Given the description of an element on the screen output the (x, y) to click on. 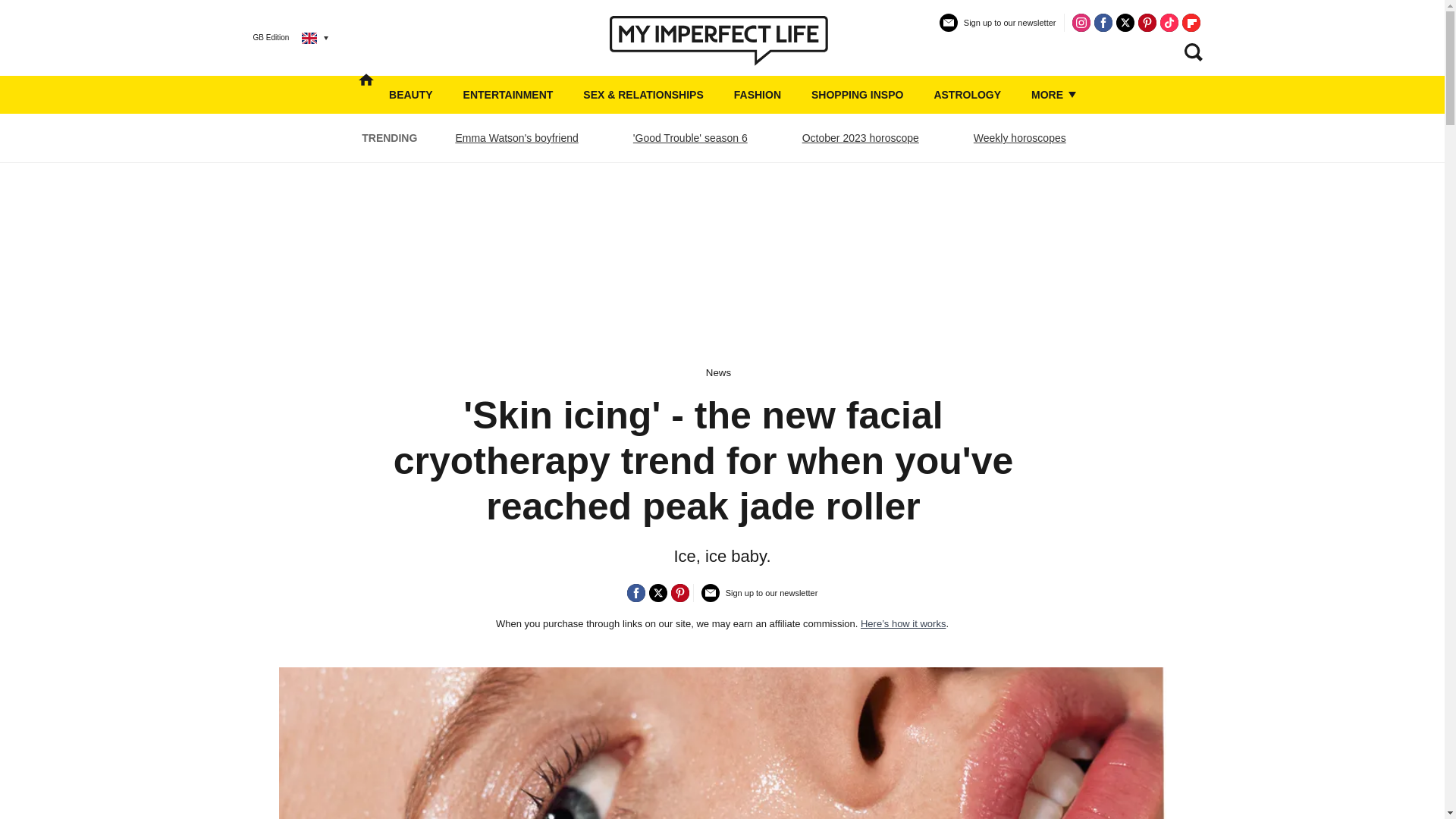
FASHION (756, 94)
Weekly horoscopes (1019, 137)
GB Edition (279, 37)
ENTERTAINMENT (508, 94)
ASTROLOGY (967, 94)
BEAUTY (410, 94)
Sign up to our newsletter (998, 28)
Sign up to our newsletter (759, 598)
SHOPPING INSPO (856, 94)
News (718, 372)
October 2023 horoscope (860, 137)
Emma Watson's boyfriend (516, 137)
'Good Trouble' season 6 (689, 137)
